Given the description of an element on the screen output the (x, y) to click on. 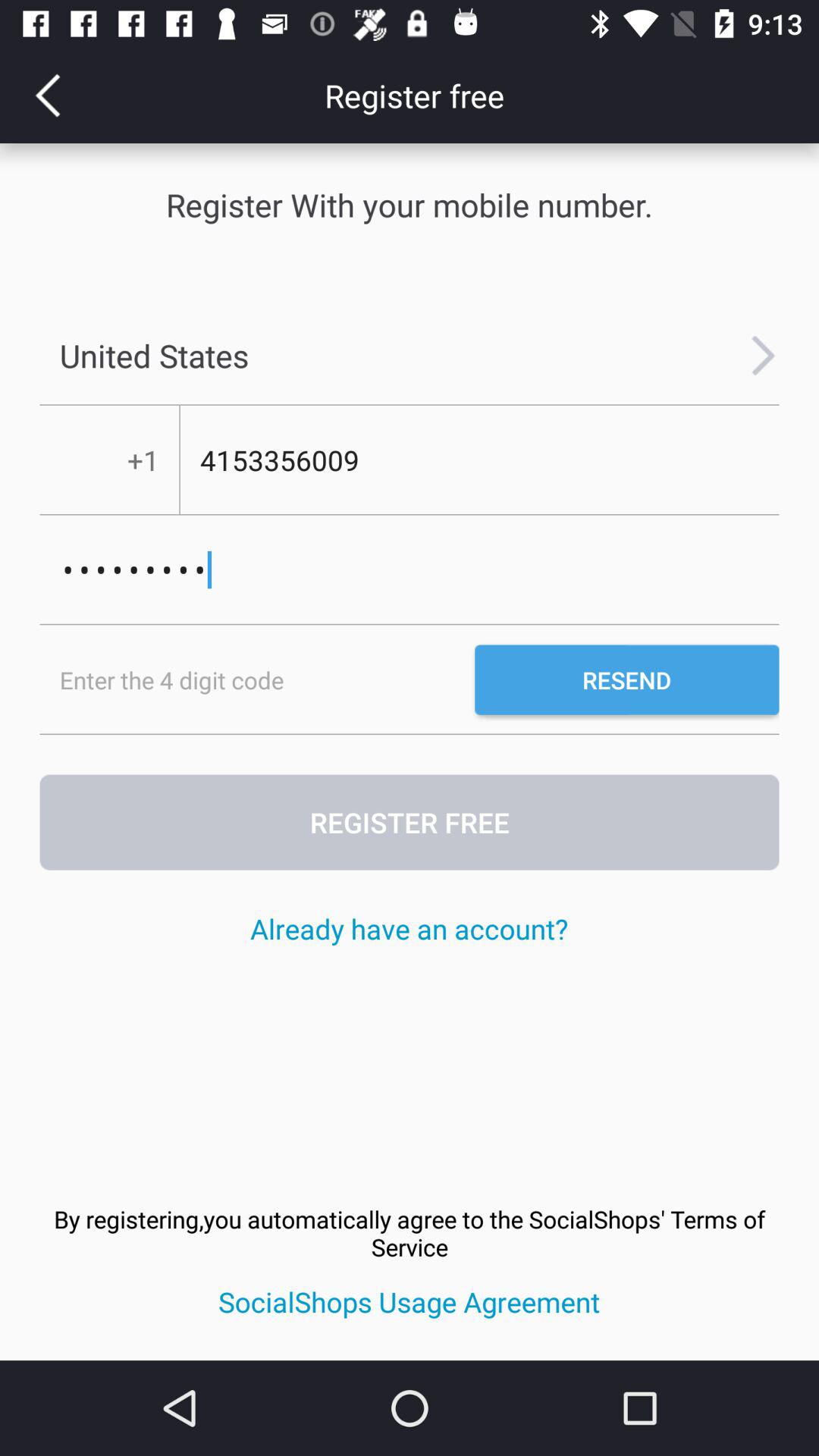
turn on the icon below the by registering you icon (409, 1301)
